Given the description of an element on the screen output the (x, y) to click on. 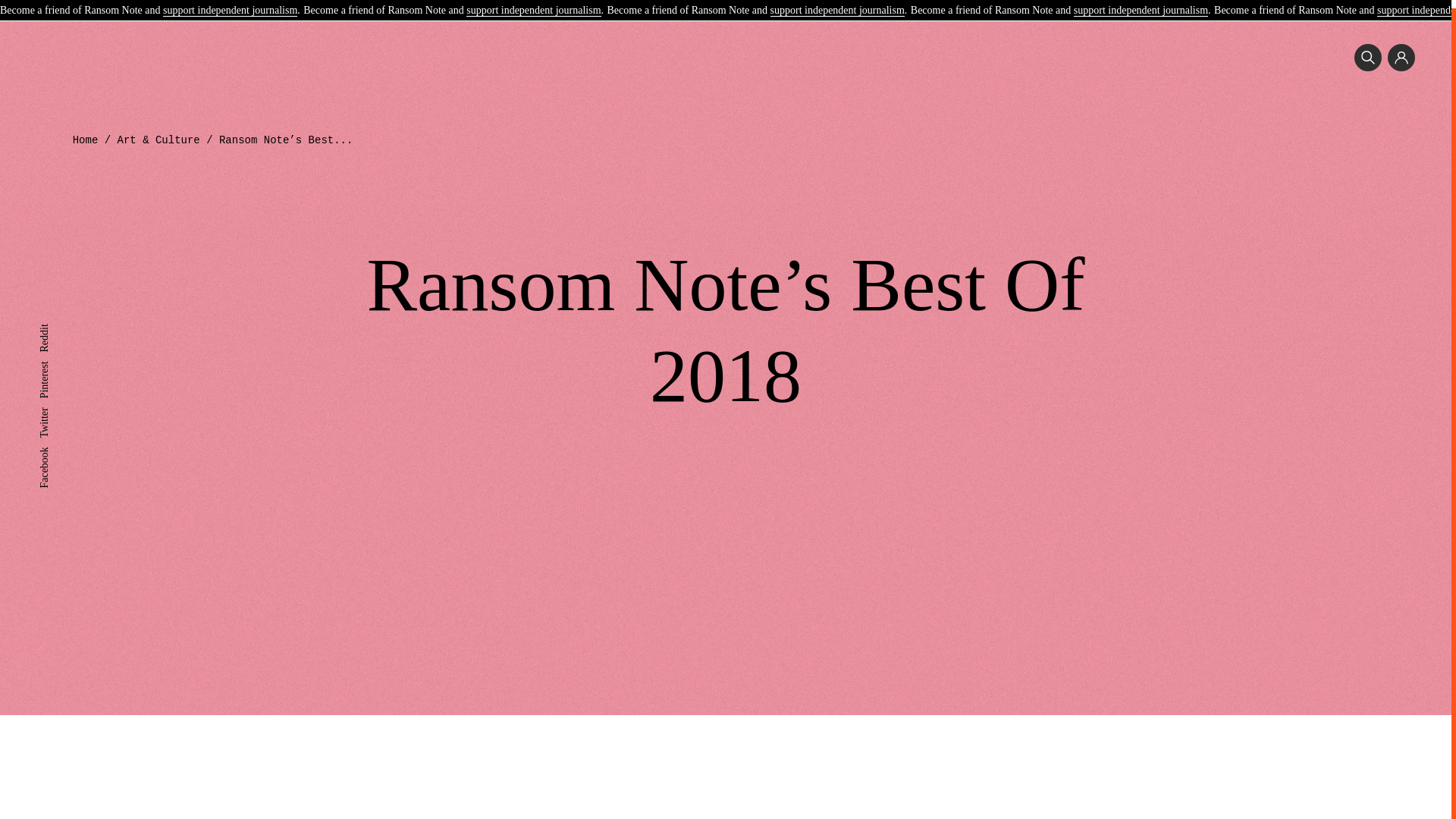
Pinterest (57, 358)
support independent journalism (532, 4)
Home (85, 140)
Twitter (53, 404)
Reddit (52, 321)
support independent journalism (230, 4)
support independent journalism (1141, 4)
Facebook (59, 444)
support independent journalism (837, 4)
